Given the description of an element on the screen output the (x, y) to click on. 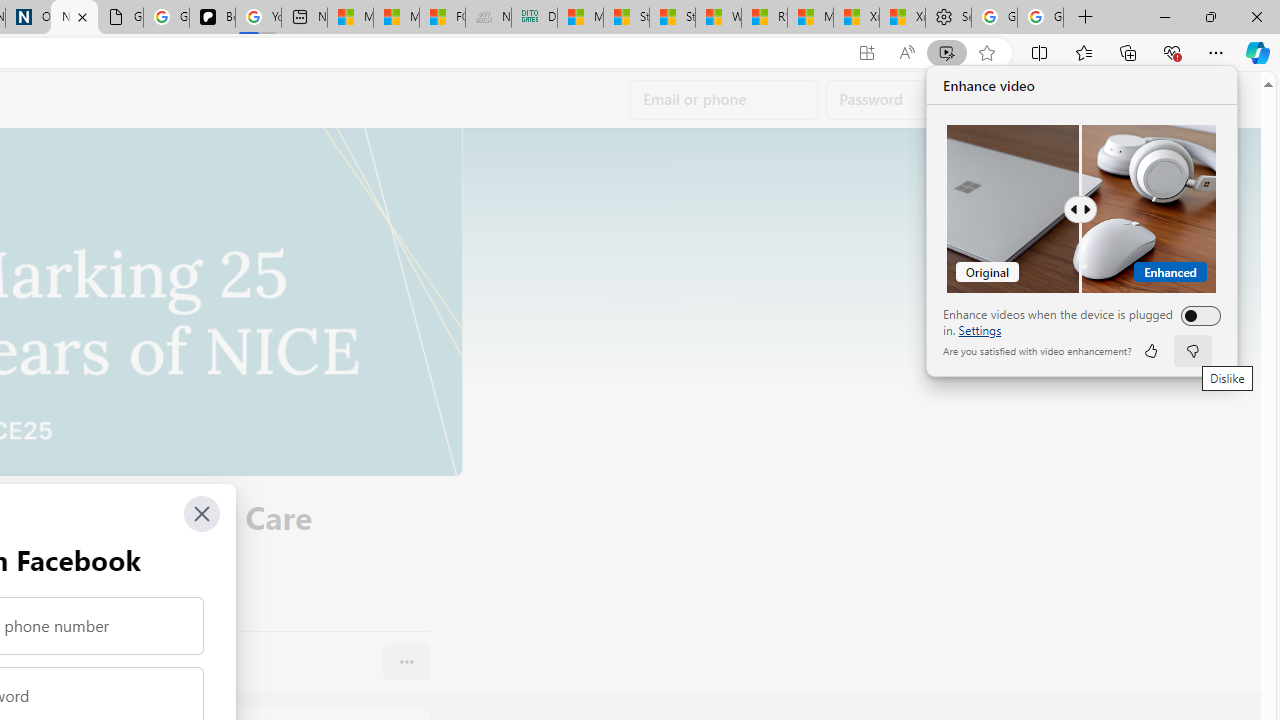
Email or phone (724, 99)
dislike (1192, 350)
